Given the description of an element on the screen output the (x, y) to click on. 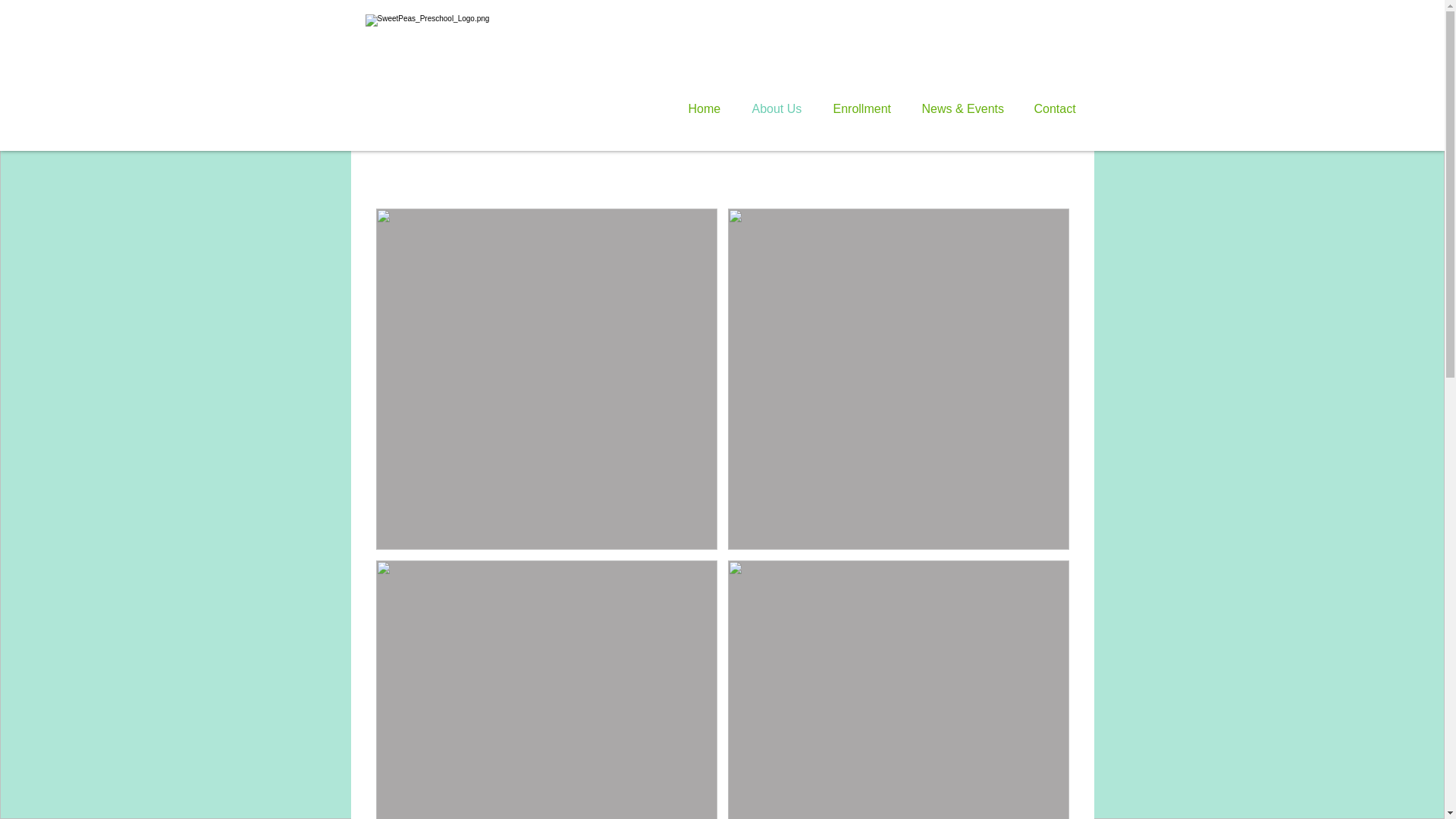
About Us Element type: text (780, 108)
News & Events Element type: text (966, 108)
Home Element type: text (707, 108)
Contact Element type: text (1058, 108)
